Given the description of an element on the screen output the (x, y) to click on. 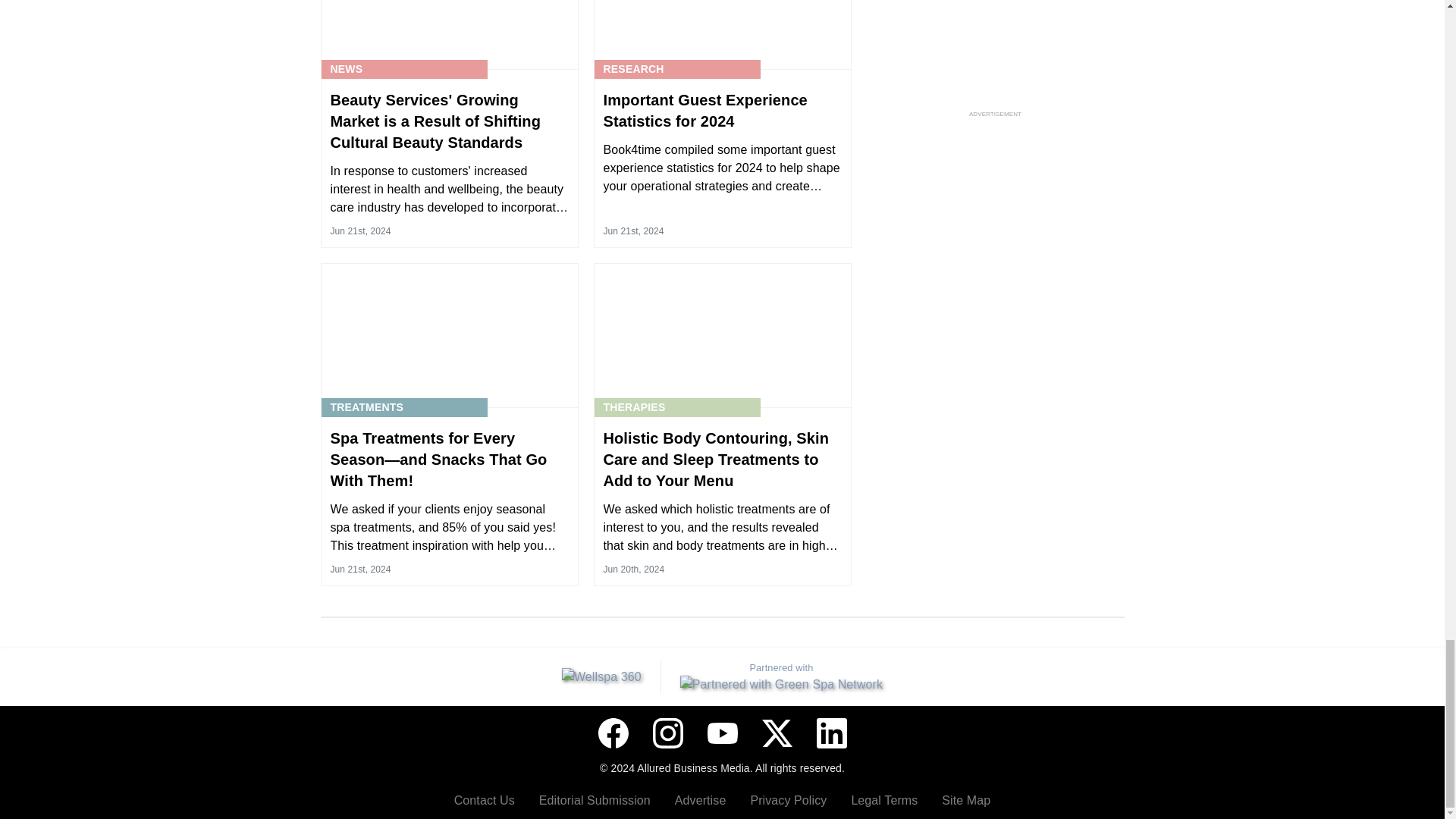
Instagram icon (667, 733)
Facebook icon (611, 733)
LinkedIn icon (830, 733)
YouTube icon (721, 733)
News (346, 68)
Twitter X icon (776, 733)
